Given the description of an element on the screen output the (x, y) to click on. 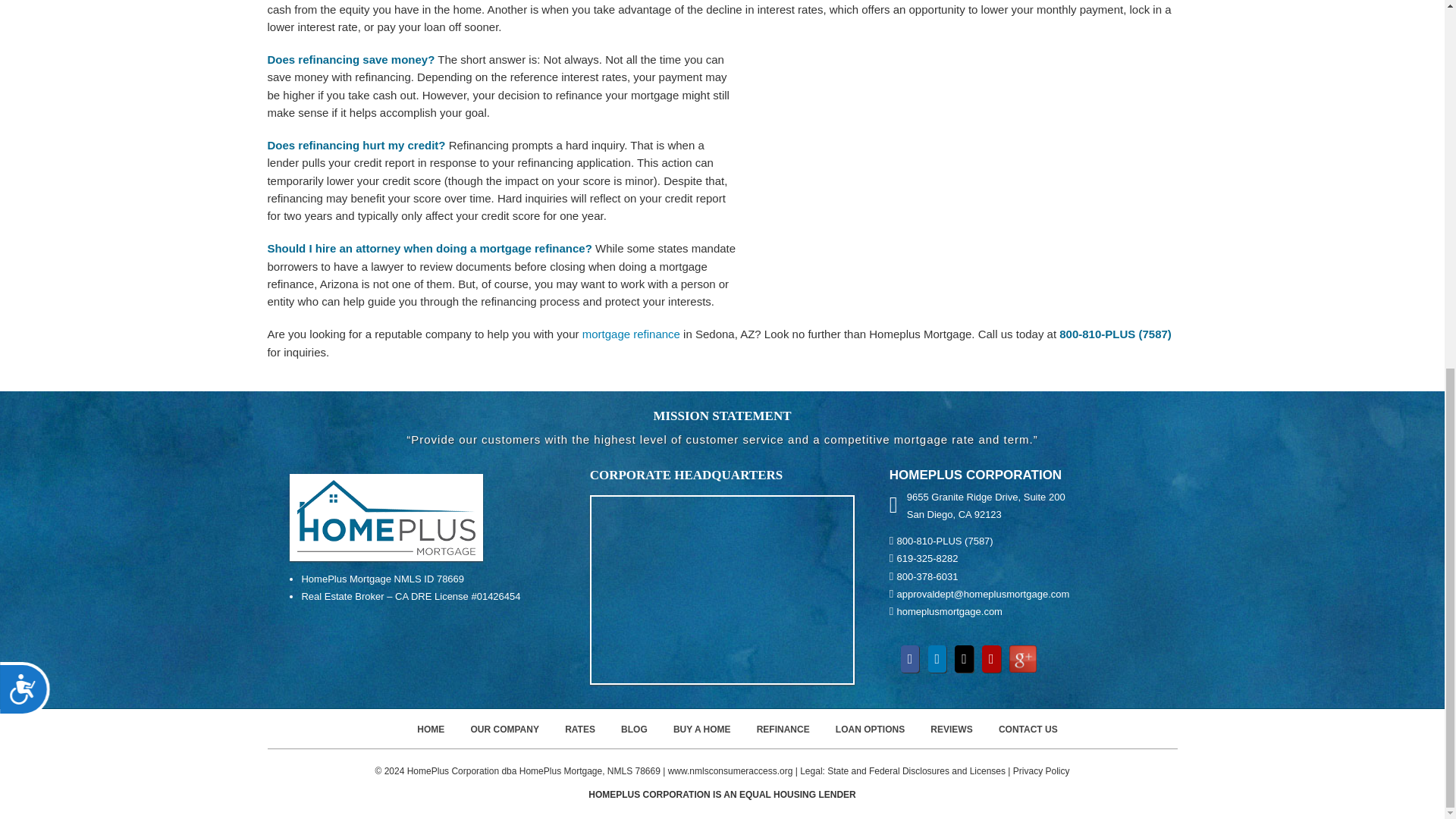
YouTube video player (964, 178)
Accessibility (31, 31)
